Given the description of an element on the screen output the (x, y) to click on. 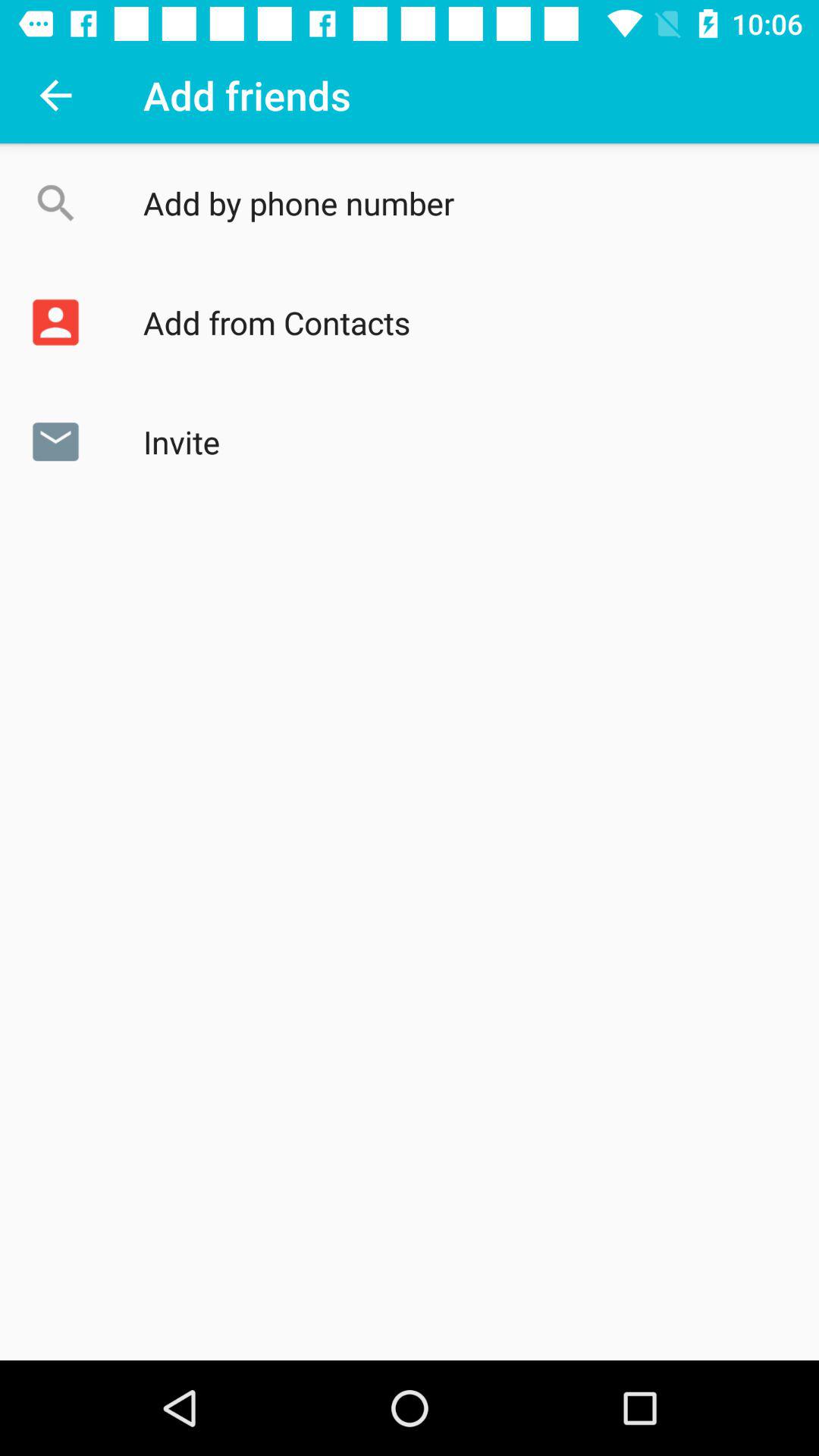
click the icon next to the add friends item (55, 95)
